Given the description of an element on the screen output the (x, y) to click on. 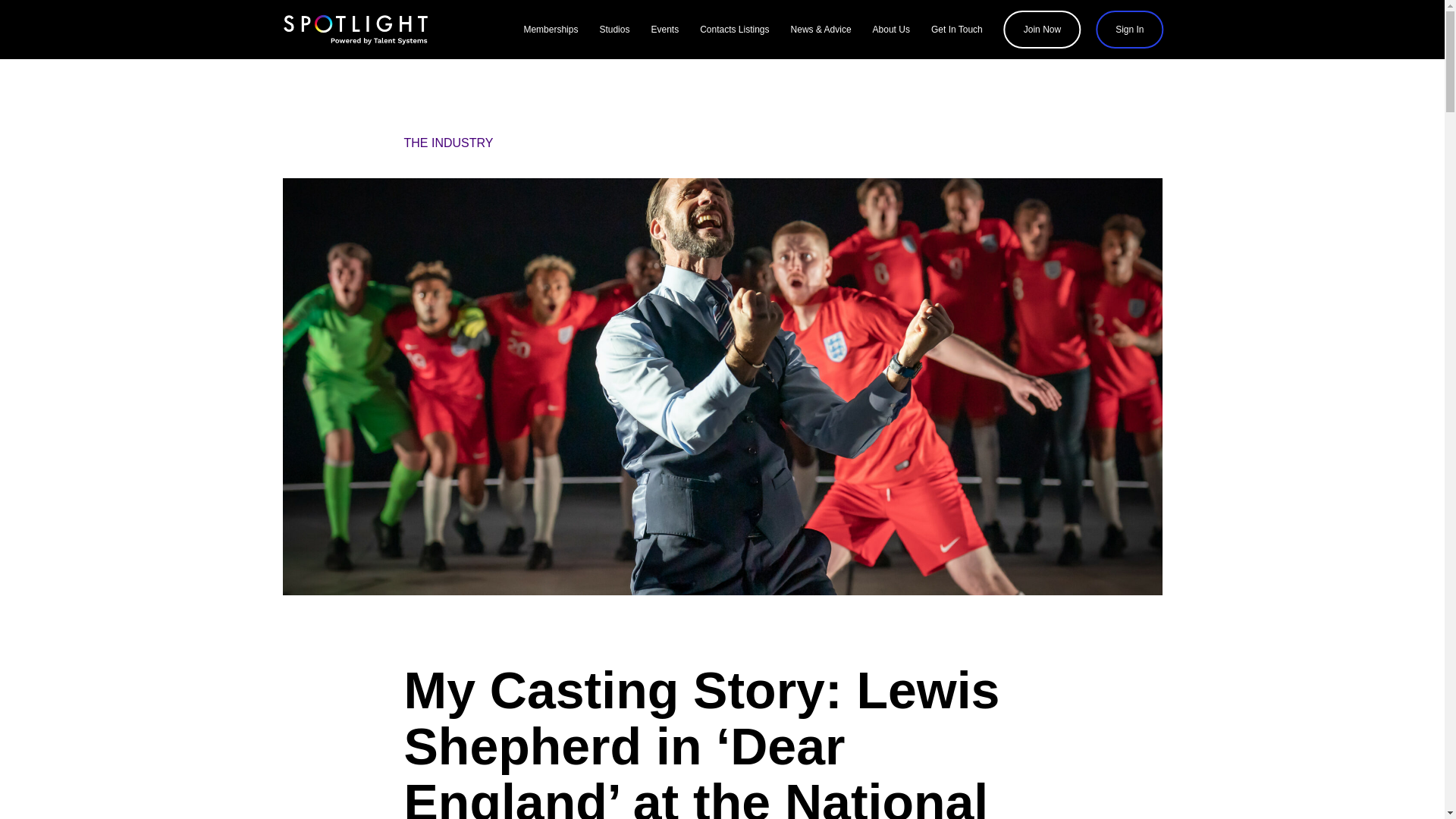
Contacts Listings (734, 29)
Join Now (1042, 29)
Sign In (1129, 29)
Get In Touch (956, 29)
